Given the description of an element on the screen output the (x, y) to click on. 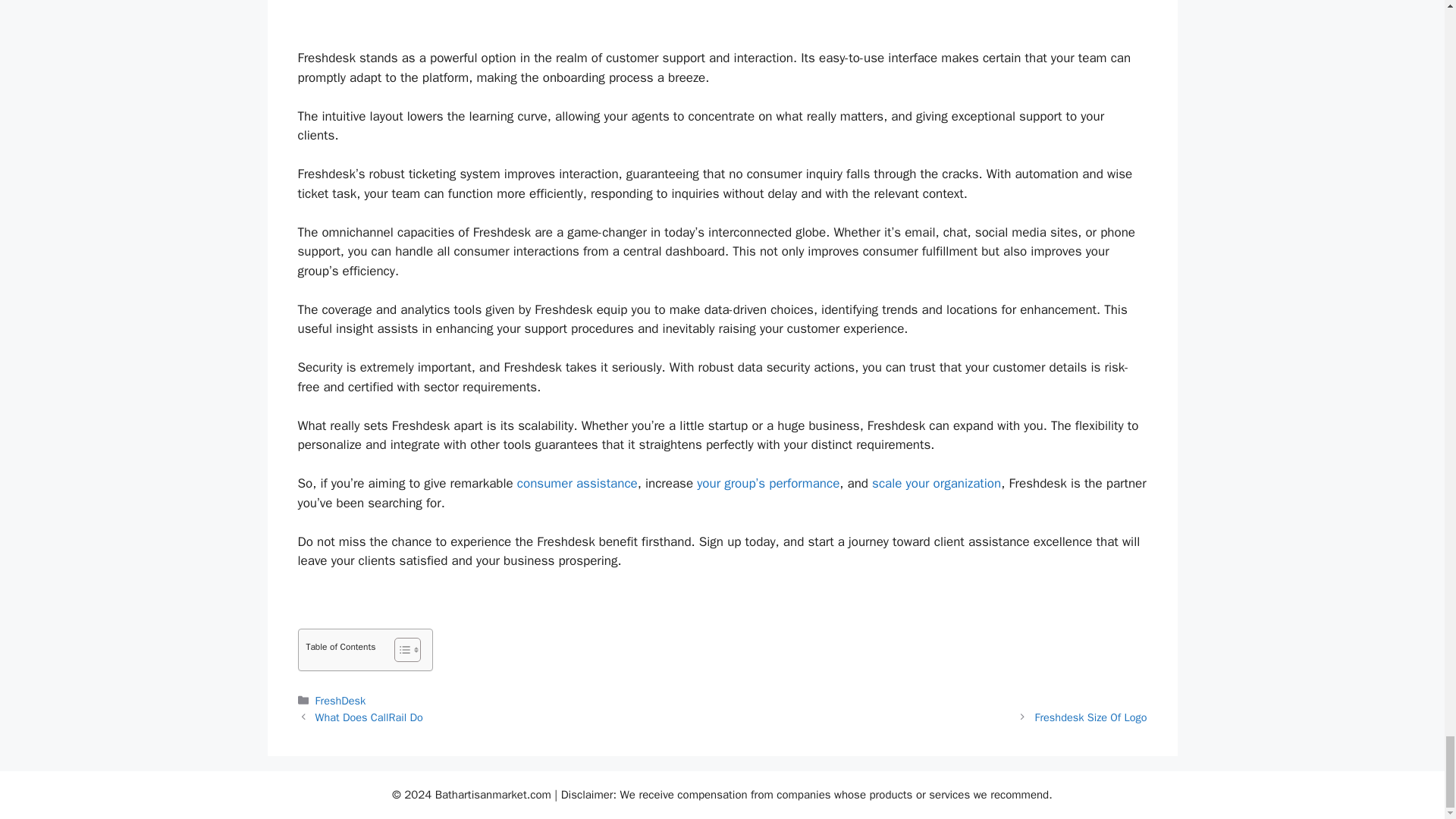
Freshdesk Size Of Logo (1091, 716)
scale your organization (936, 483)
FreshDesk (340, 700)
What Does CallRail Do (369, 716)
consumer assistance (576, 483)
